Given the description of an element on the screen output the (x, y) to click on. 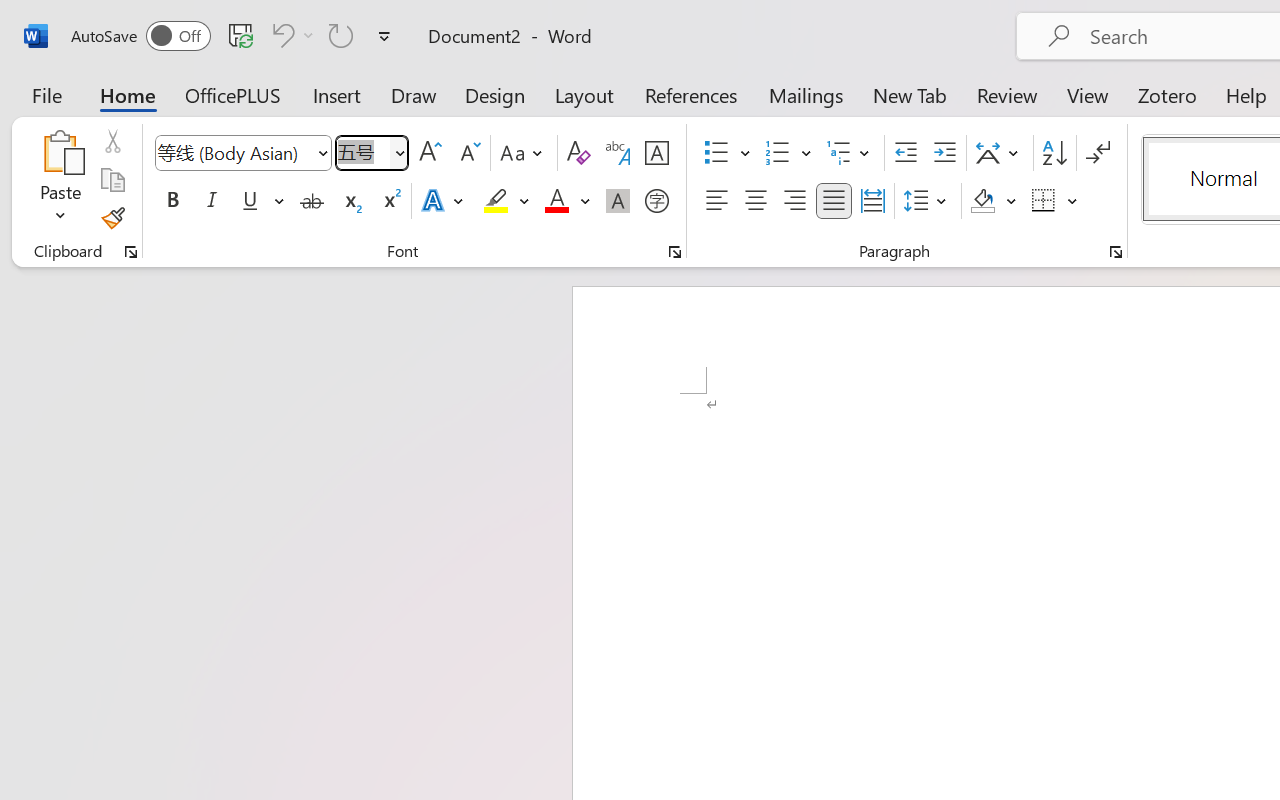
Paste (60, 179)
Quick Access Toolbar (233, 36)
